Given the description of an element on the screen output the (x, y) to click on. 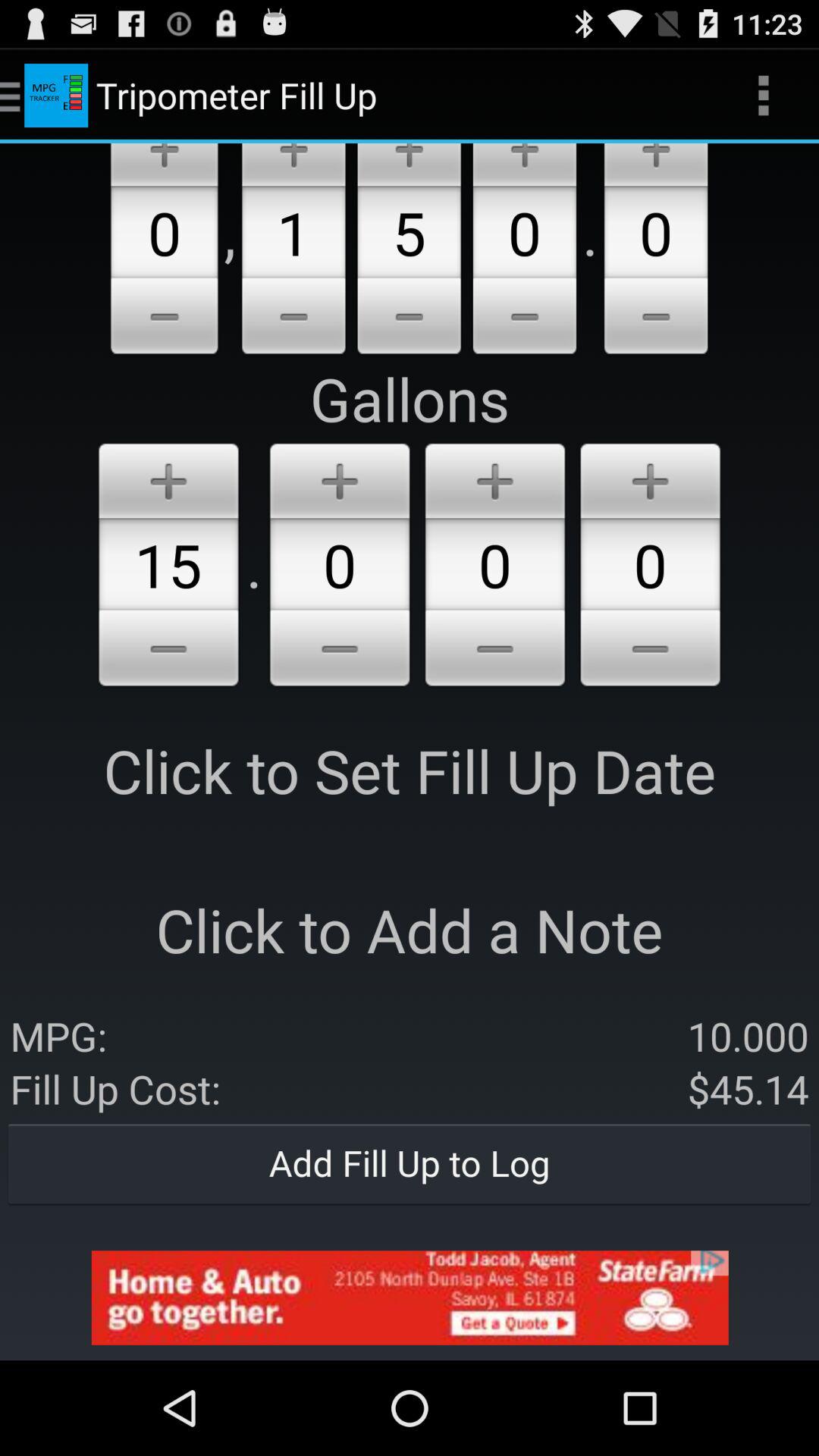
click to decrease (494, 651)
